Given the description of an element on the screen output the (x, y) to click on. 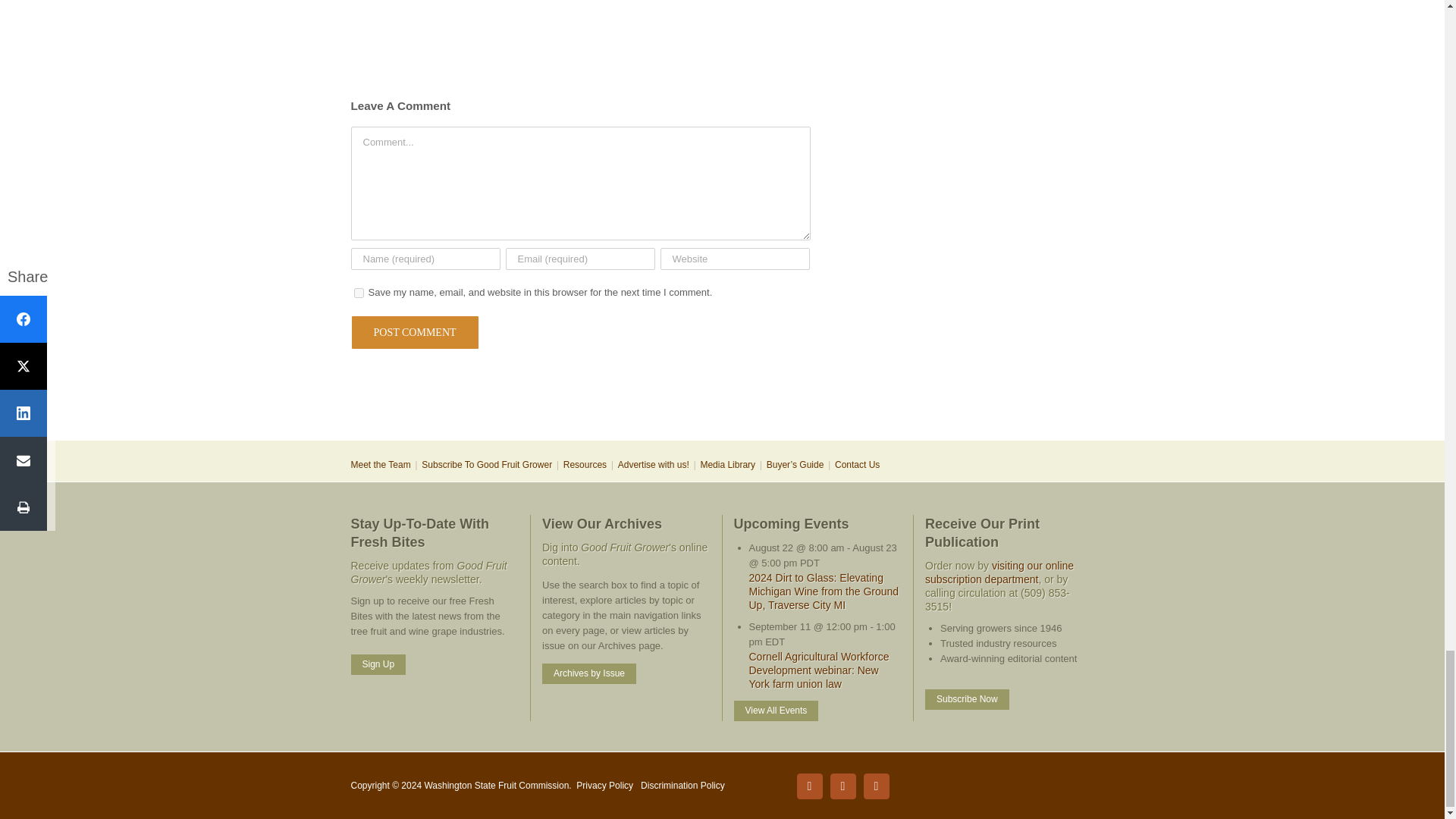
Facebook (809, 786)
Post Comment (414, 332)
LinkedIn (842, 786)
yes (357, 293)
YouTube (875, 786)
